Given the description of an element on the screen output the (x, y) to click on. 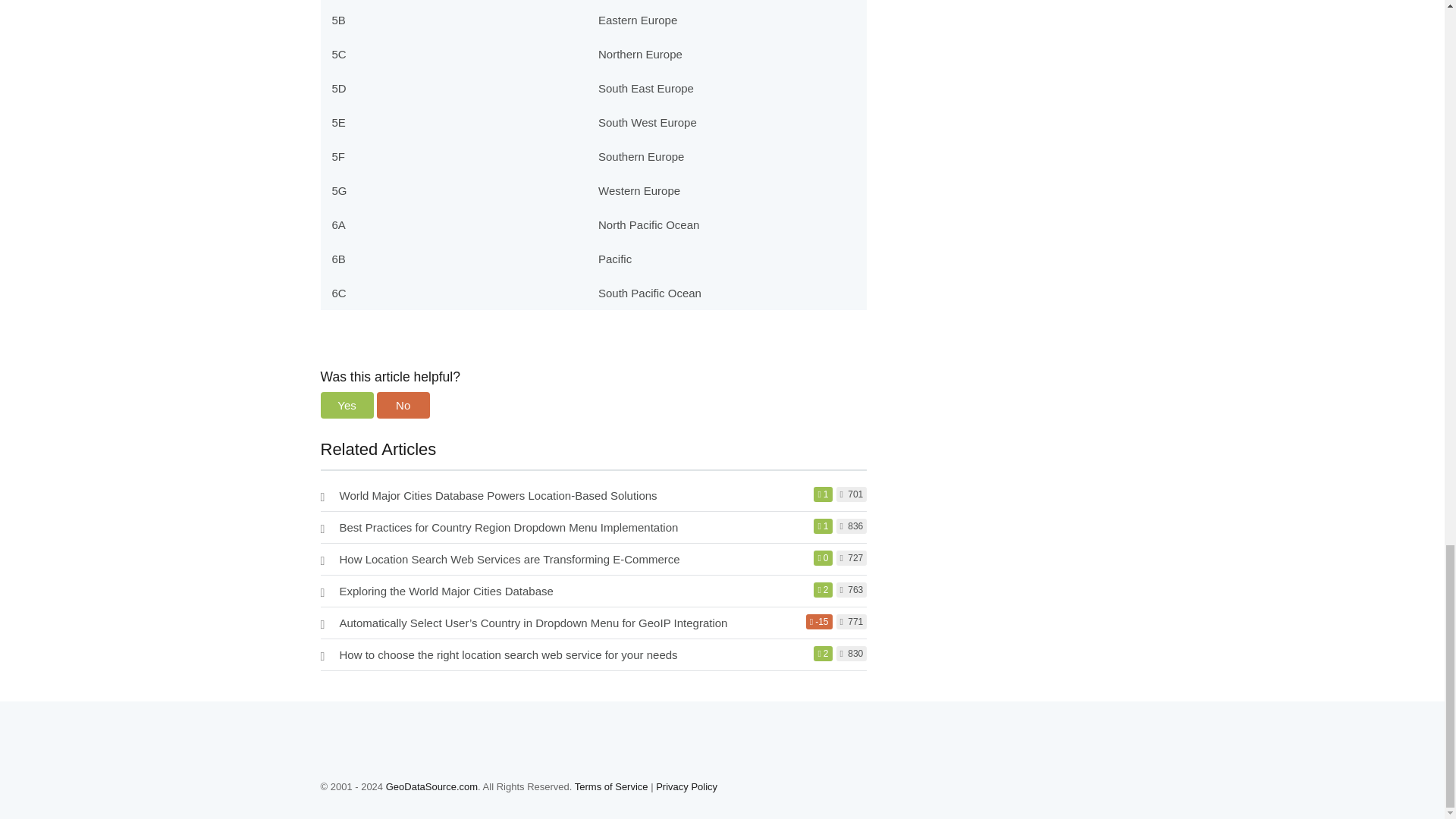
No (403, 405)
Yes (346, 405)
World Major Cities Database Powers Location-Based Solutions (498, 495)
World Major Cities Database Powers Location-Based Solutions (498, 495)
Exploring the World Major Cities Database (446, 590)
How Location Search Web Services are Transforming E-Commerce (509, 558)
